Given the description of an element on the screen output the (x, y) to click on. 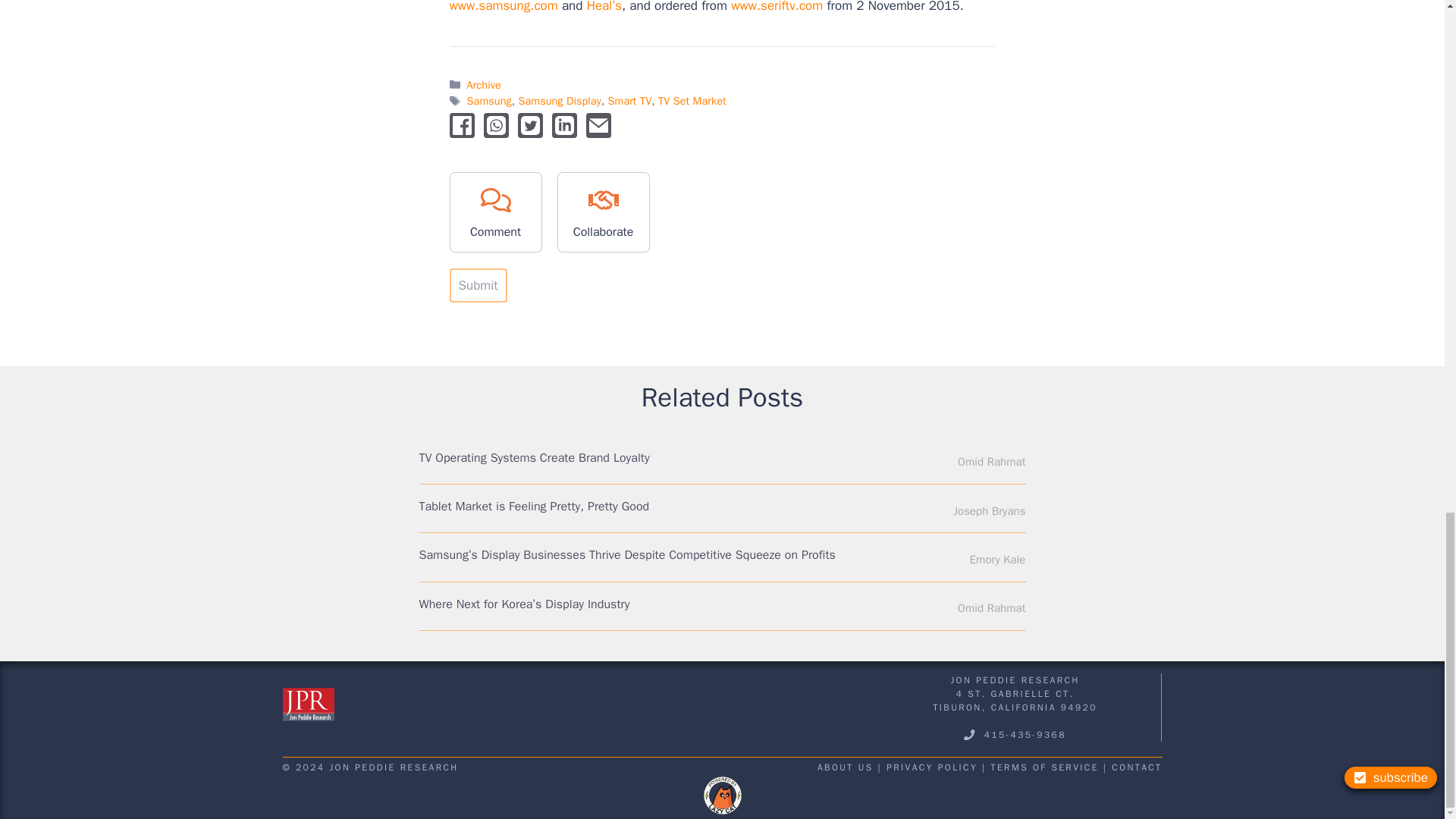
Submit (477, 285)
TV Operating Systems Create Brand Loyalty (534, 458)
Tablet Market is Feeling Pretty, Pretty Good (534, 506)
Smart TV (630, 100)
www.seriftv.com (776, 6)
Archive (483, 84)
www.samsung.com (502, 6)
TV Set Market (692, 100)
Samsung (489, 100)
Samsung Display (558, 100)
Powered by Lazy Cat Media (722, 795)
